Given the description of an element on the screen output the (x, y) to click on. 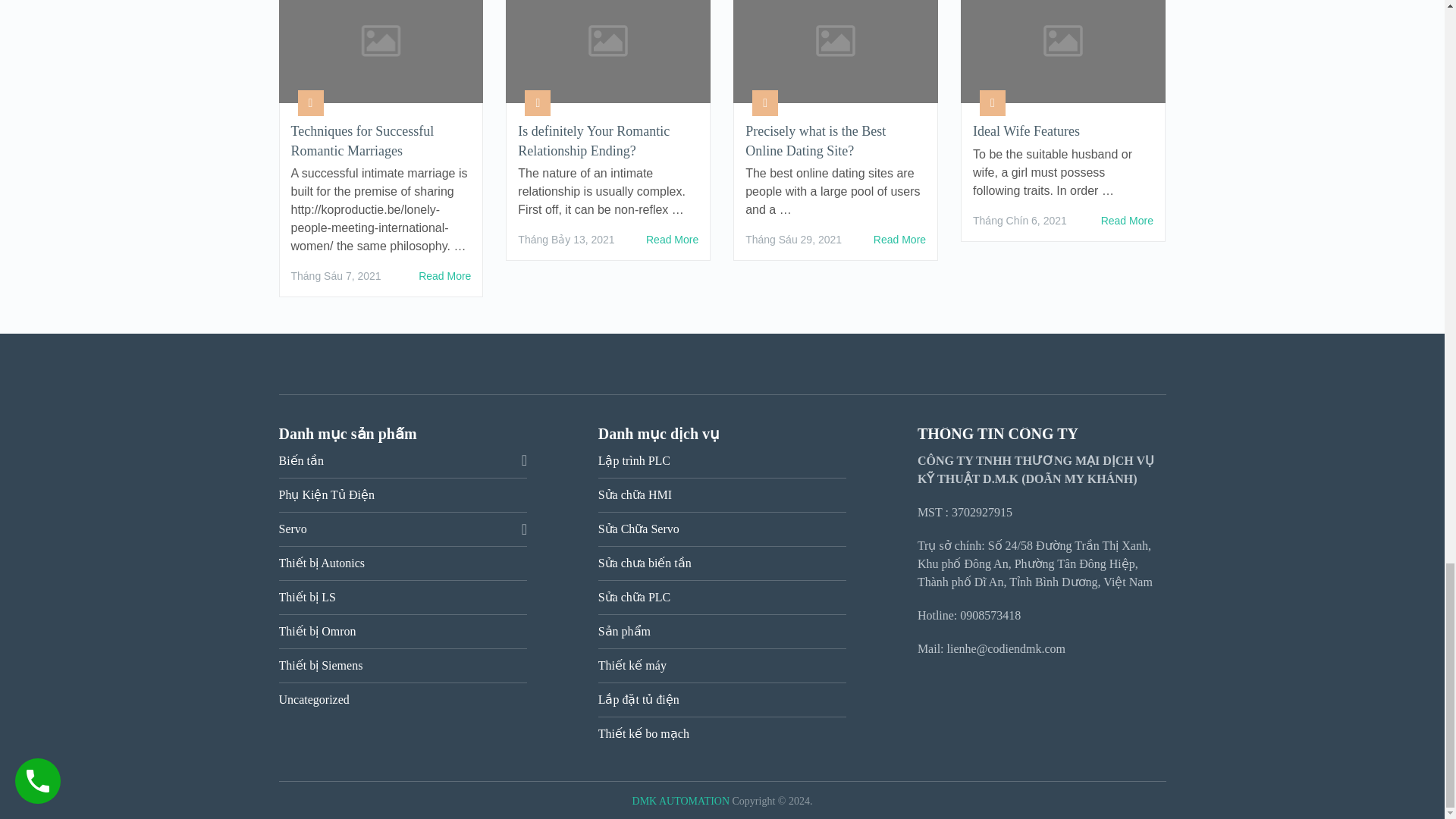
Is definitely Your Romantic Relationship Ending? (608, 140)
Precisely what is the Best Online Dating Site? (835, 140)
Techniques for Successful Romantic Marriages (381, 140)
Techniques for Successful Romantic Marriages (444, 275)
Ideal Wife Features (1126, 220)
Ideal Wife Features (1062, 131)
Precisely what is the Best Online Dating Site? (899, 239)
Is definitely Your Romantic Relationship Ending? (672, 239)
